Given the description of an element on the screen output the (x, y) to click on. 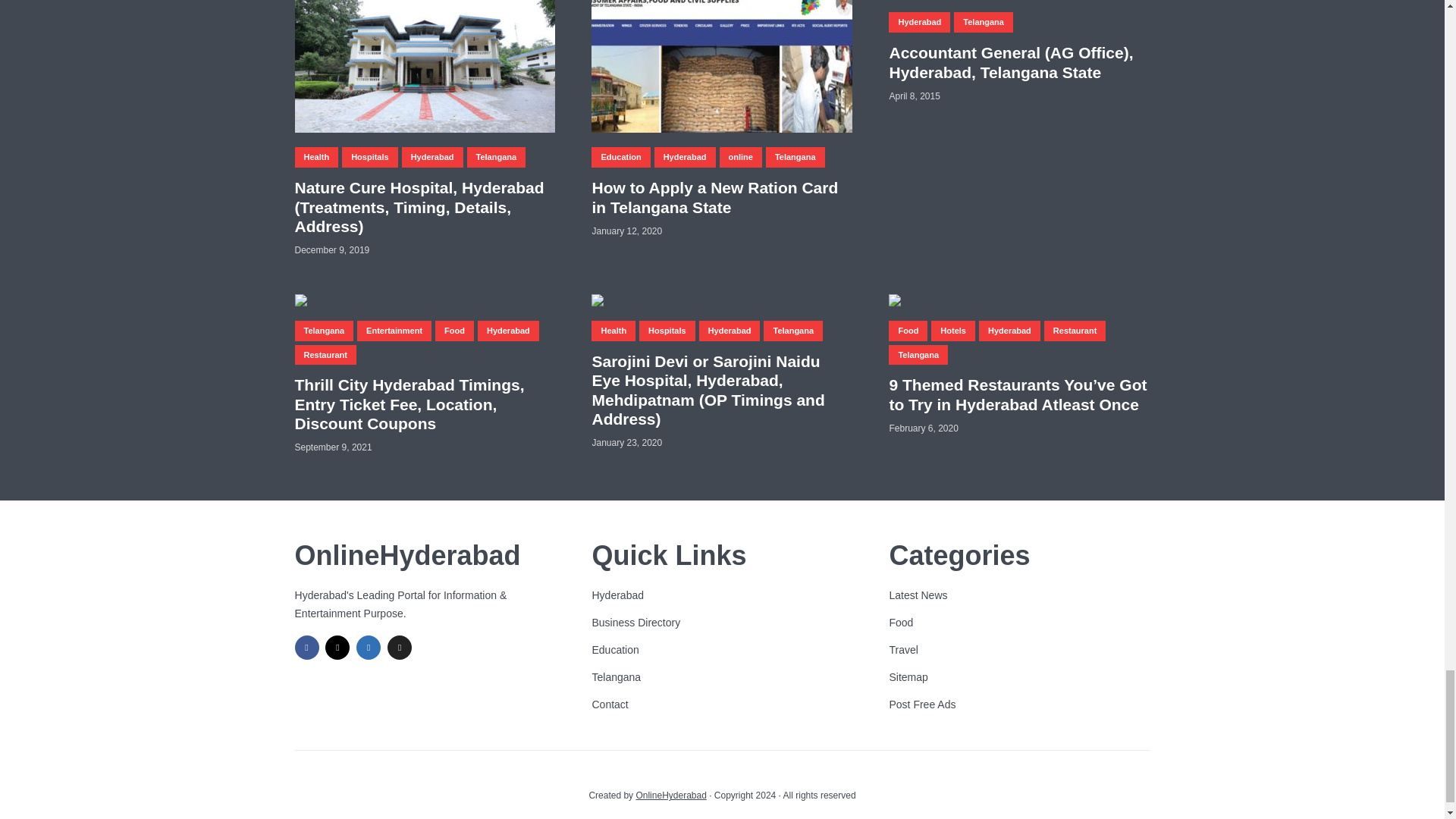
Instagram (336, 647)
Facebook (306, 647)
Linkedin (368, 647)
